Given the description of an element on the screen output the (x, y) to click on. 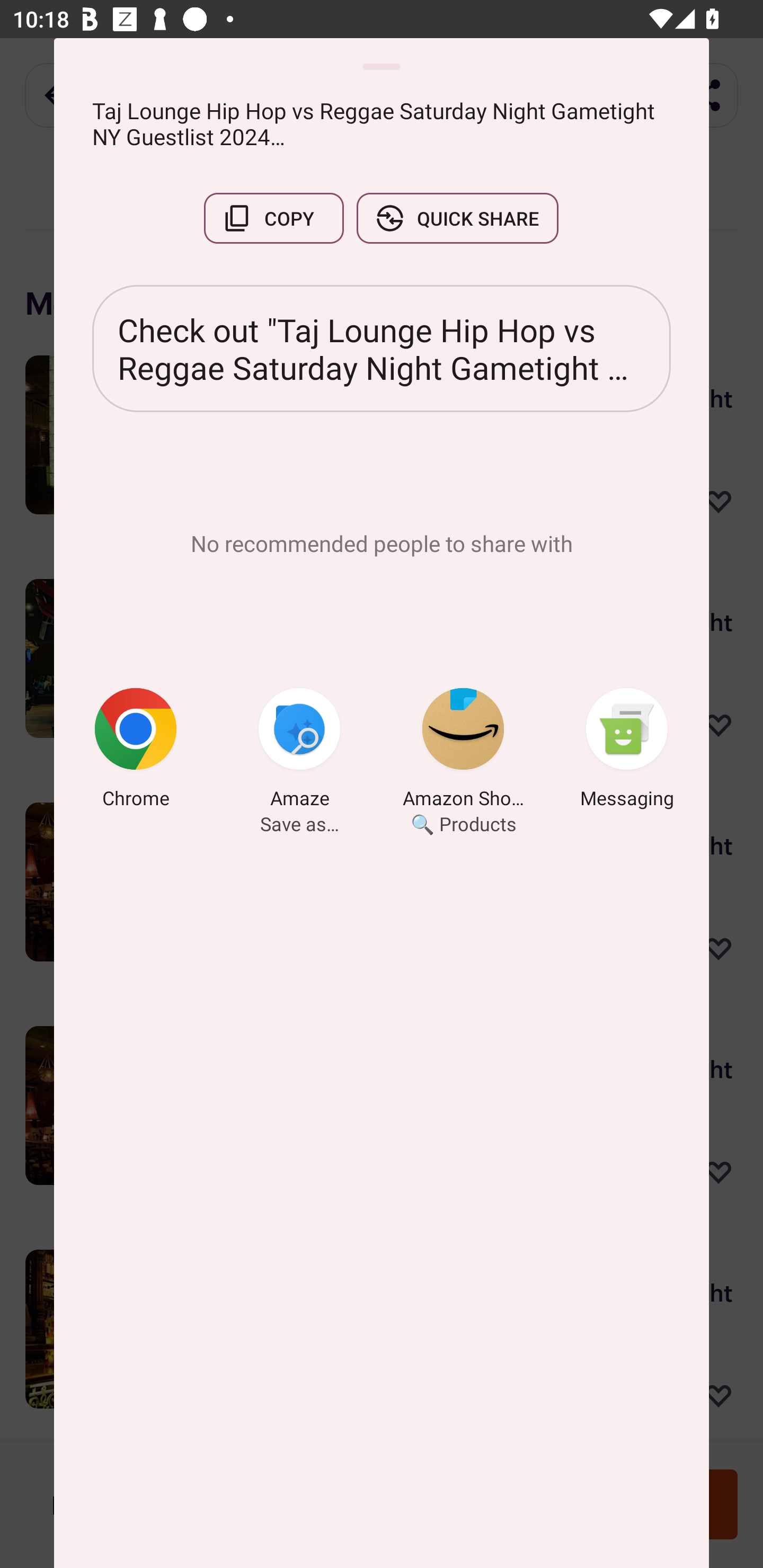
COPY (273, 218)
QUICK SHARE (457, 218)
Chrome (135, 751)
Amaze Save as… (299, 751)
Amazon Shopping 🔍 Products (463, 751)
Messaging (626, 751)
